Given the description of an element on the screen output the (x, y) to click on. 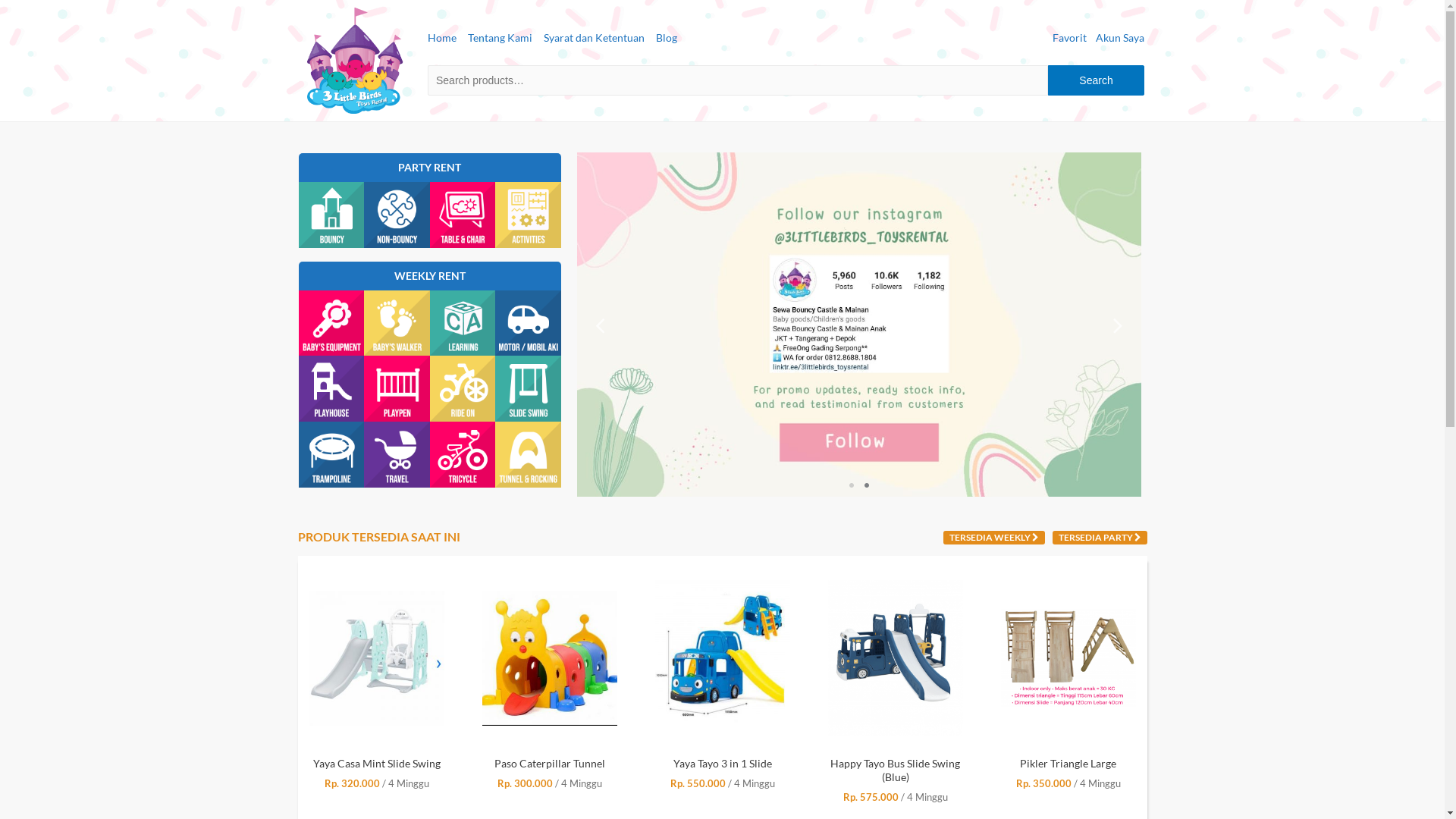
Search Element type: text (1095, 79)
WEEKLY RENT Element type: text (429, 275)
TERSEDIA PARTY Element type: text (1099, 537)
Yaya Casa Mint Slide Swing Element type: text (549, 763)
Paso Caterpillar Tunnel Element type: text (722, 763)
2 Element type: text (866, 484)
Previous Element type: text (599, 324)
Home Element type: text (441, 37)
Akun Saya Element type: text (1119, 37)
Syarat dan Ketentuan Element type: text (592, 37)
Yaya Tayo 3 in 1 Slide Element type: text (895, 763)
Minion Trampoline Element type: text (376, 763)
1 Element type: text (851, 484)
TERSEDIA WEEKLY Element type: text (993, 537)
Next Element type: text (1118, 324)
Happy Tayo Bus Slide Swing (Blue) Element type: text (1068, 770)
Favorit Element type: text (1069, 37)
Blog Element type: text (665, 37)
PARTY RENT Element type: text (429, 166)
Tentang Kami Element type: text (499, 37)
